Given the description of an element on the screen output the (x, y) to click on. 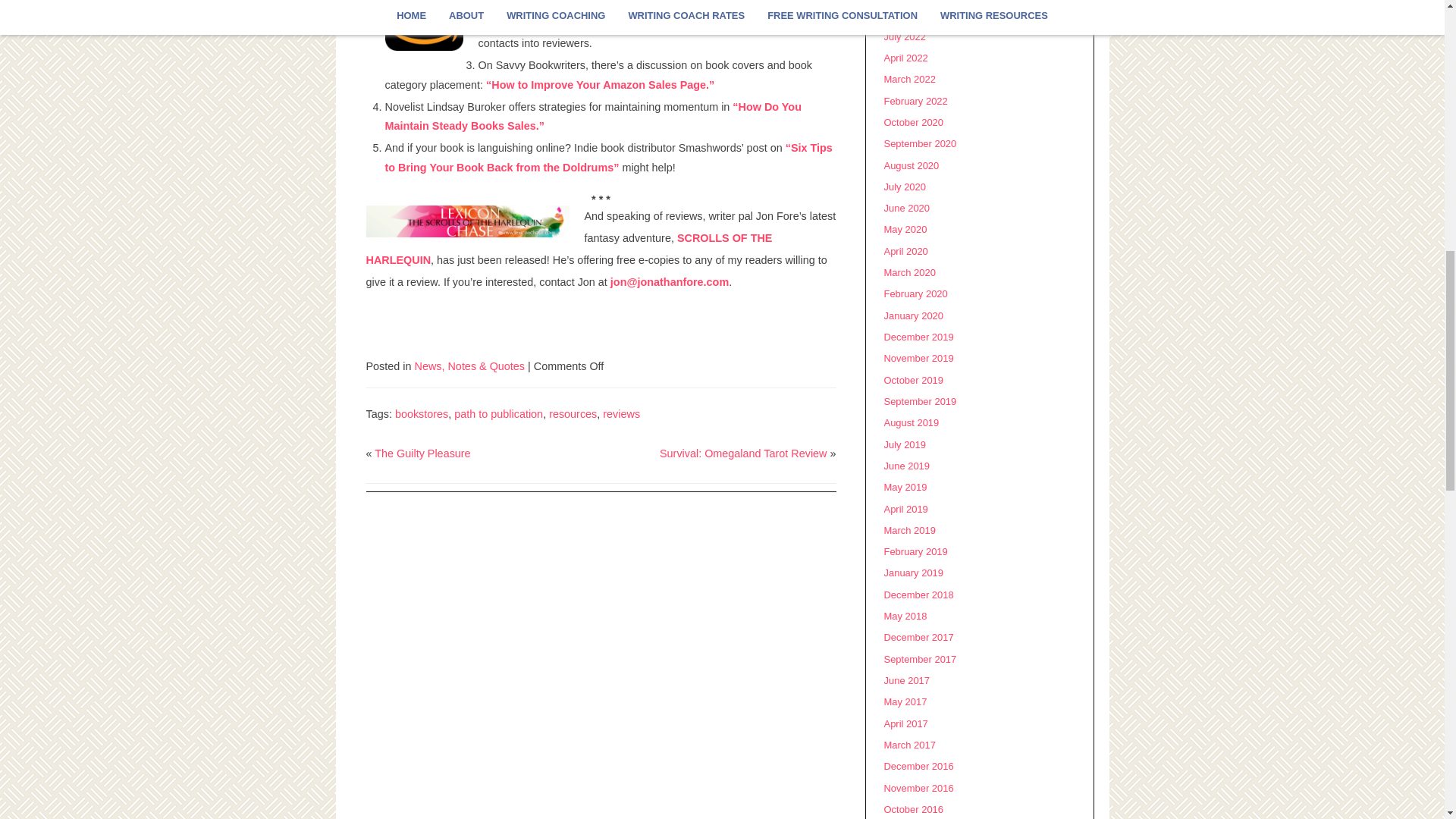
SCROLLS OF THE HARLEQUIN (568, 248)
resources (572, 413)
1000 COPIES (655, 14)
reviews (621, 413)
The Guilty Pleasure (422, 453)
bookstores (421, 413)
YOUR FIRST (776, 4)
Survival: Omegaland Tarot Review (743, 453)
path to publication (498, 413)
